Given the description of an element on the screen output the (x, y) to click on. 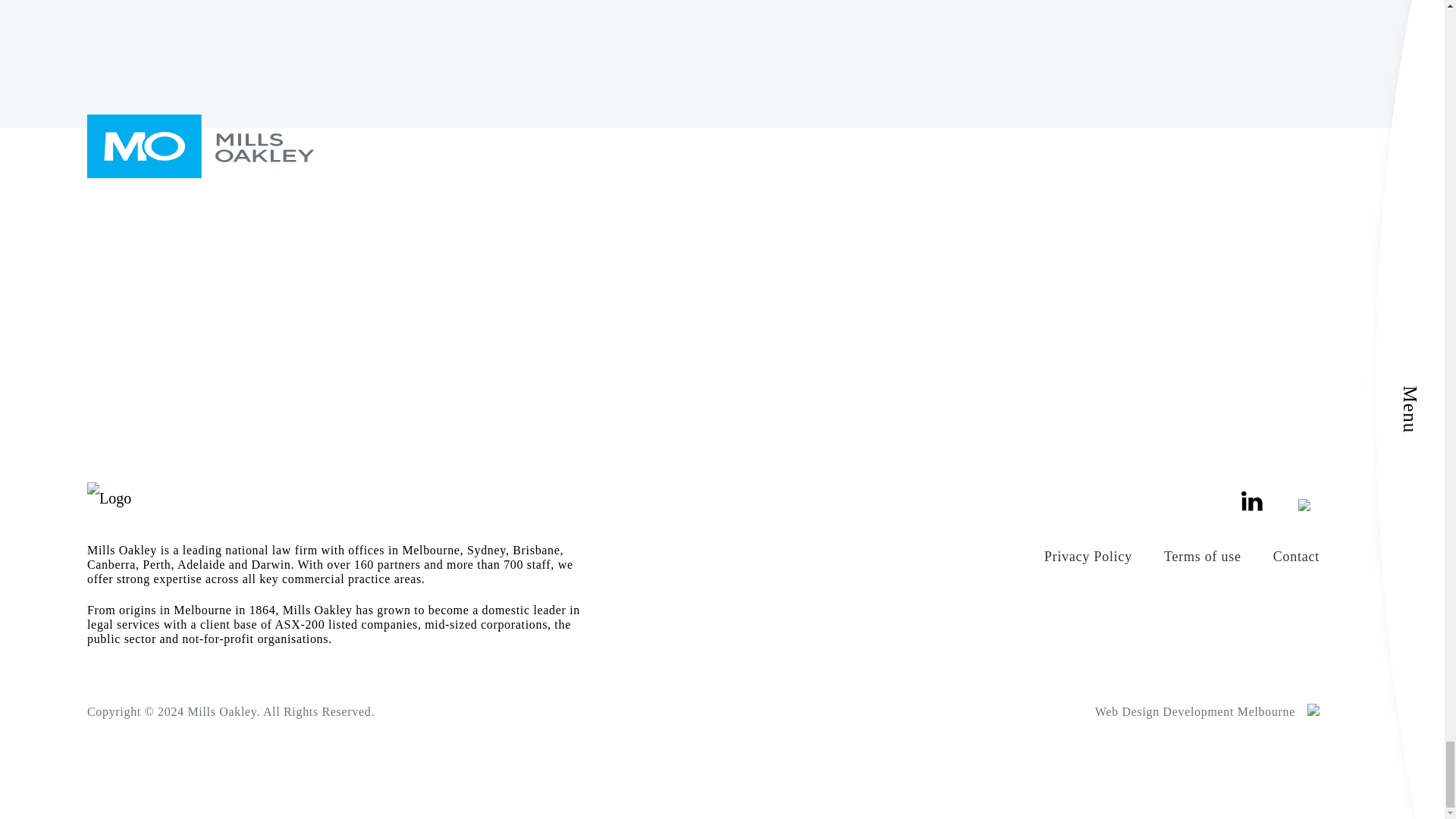
Join Now (950, 77)
